Given the description of an element on the screen output the (x, y) to click on. 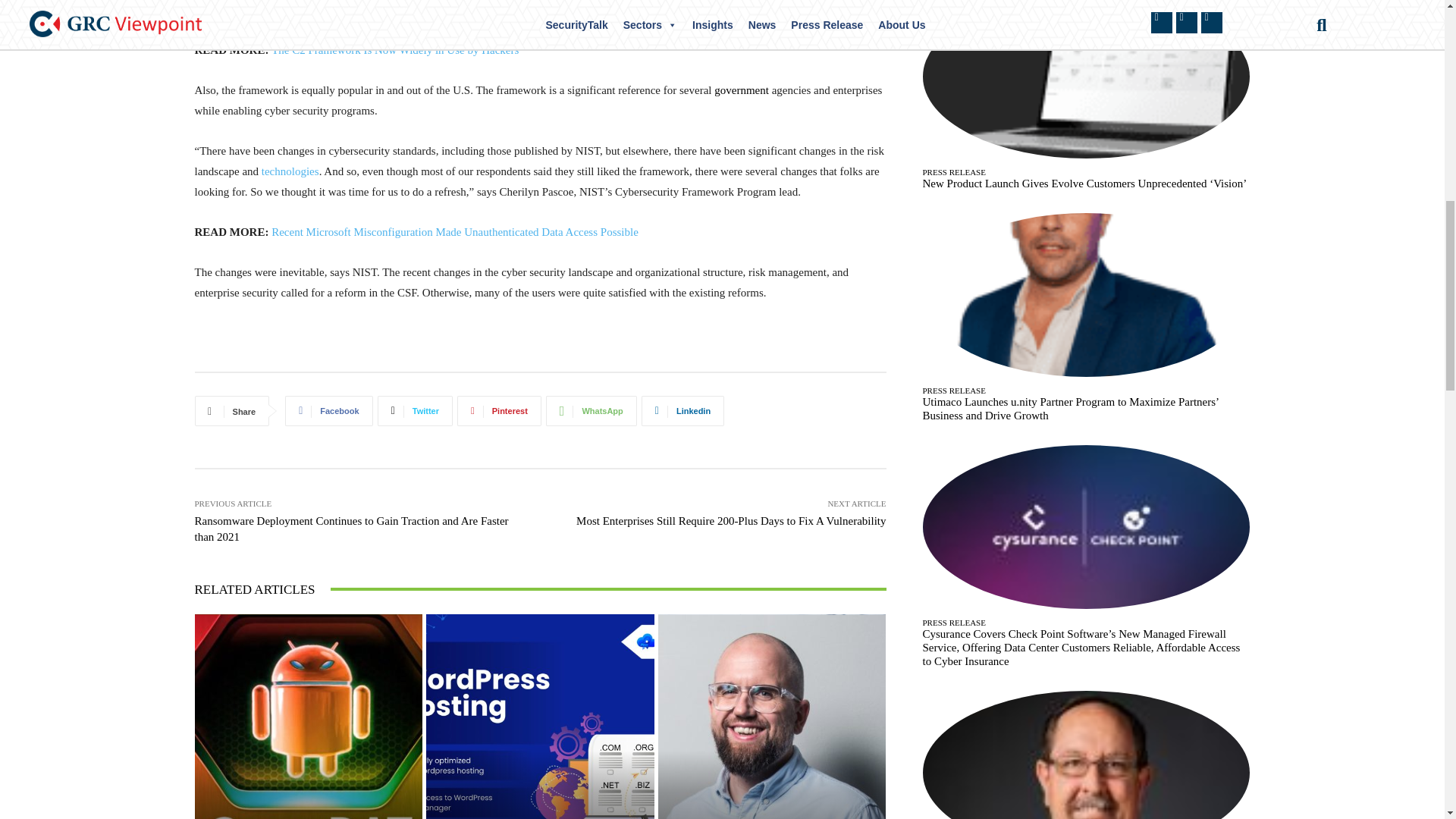
Pinterest (499, 410)
Facebook (328, 410)
Linkedin (682, 410)
Twitter (414, 410)
WhatsApp (591, 410)
